Given the description of an element on the screen output the (x, y) to click on. 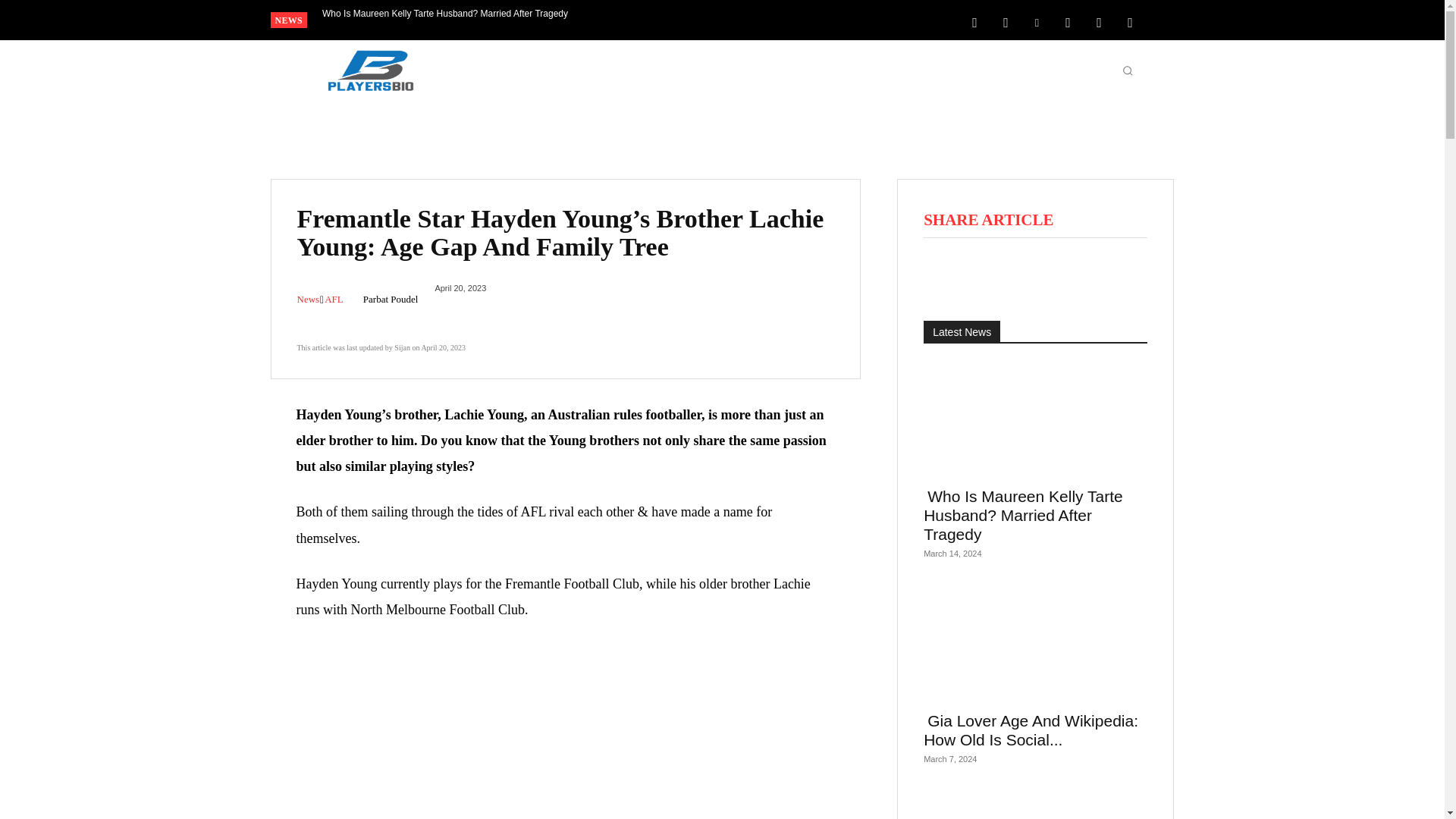
Who Is Maureen Kelly Tarte Husband? Married After Tragedy (445, 13)
Facebook (974, 21)
Instagram (1005, 21)
Who Is Maureen Kelly Tarte Husband? Married After Tragedy (445, 13)
